Given the description of an element on the screen output the (x, y) to click on. 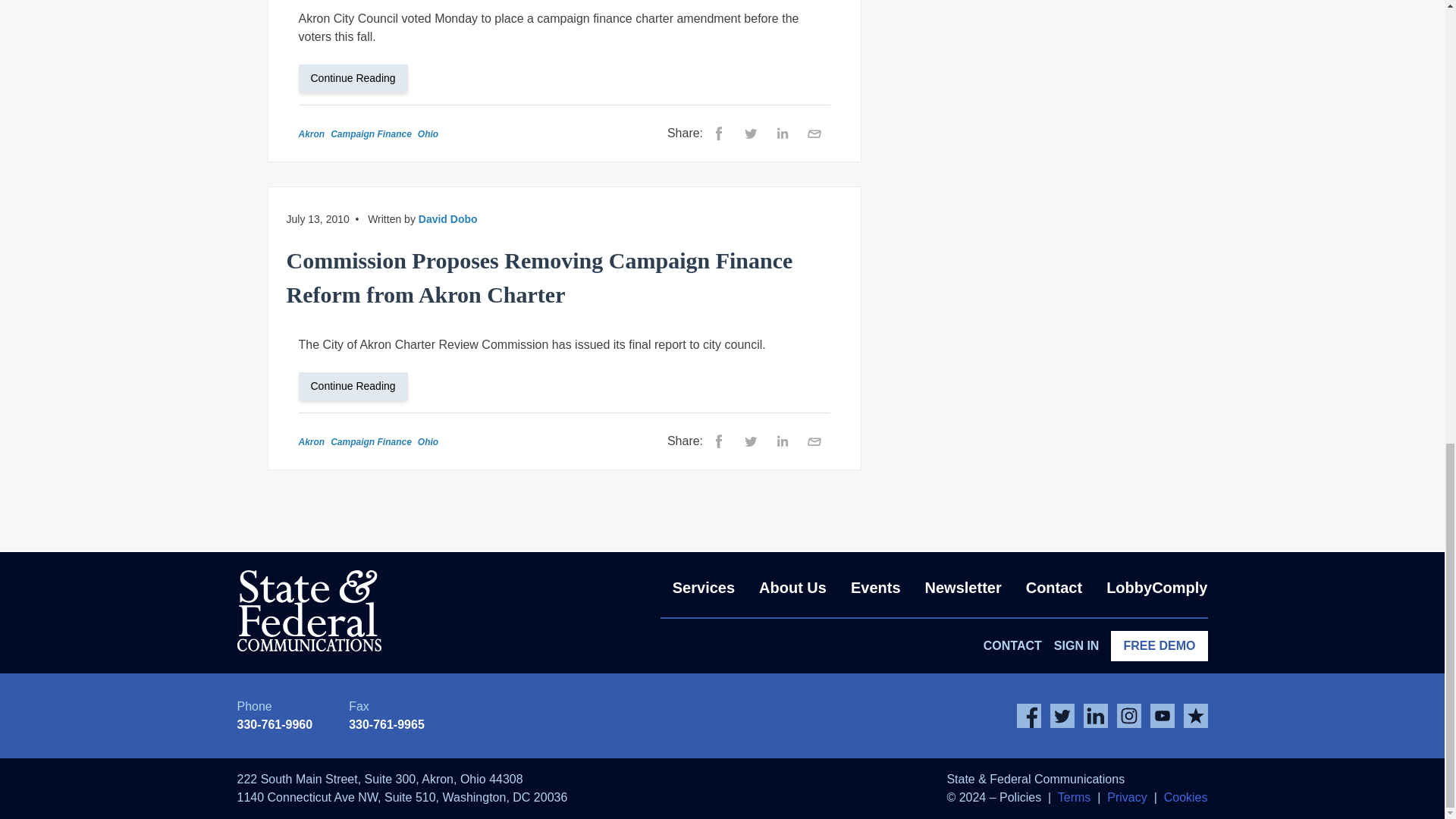
Akron (311, 133)
Ohio (427, 133)
Campaign Finance (371, 133)
Continue Reading (359, 77)
